Given the description of an element on the screen output the (x, y) to click on. 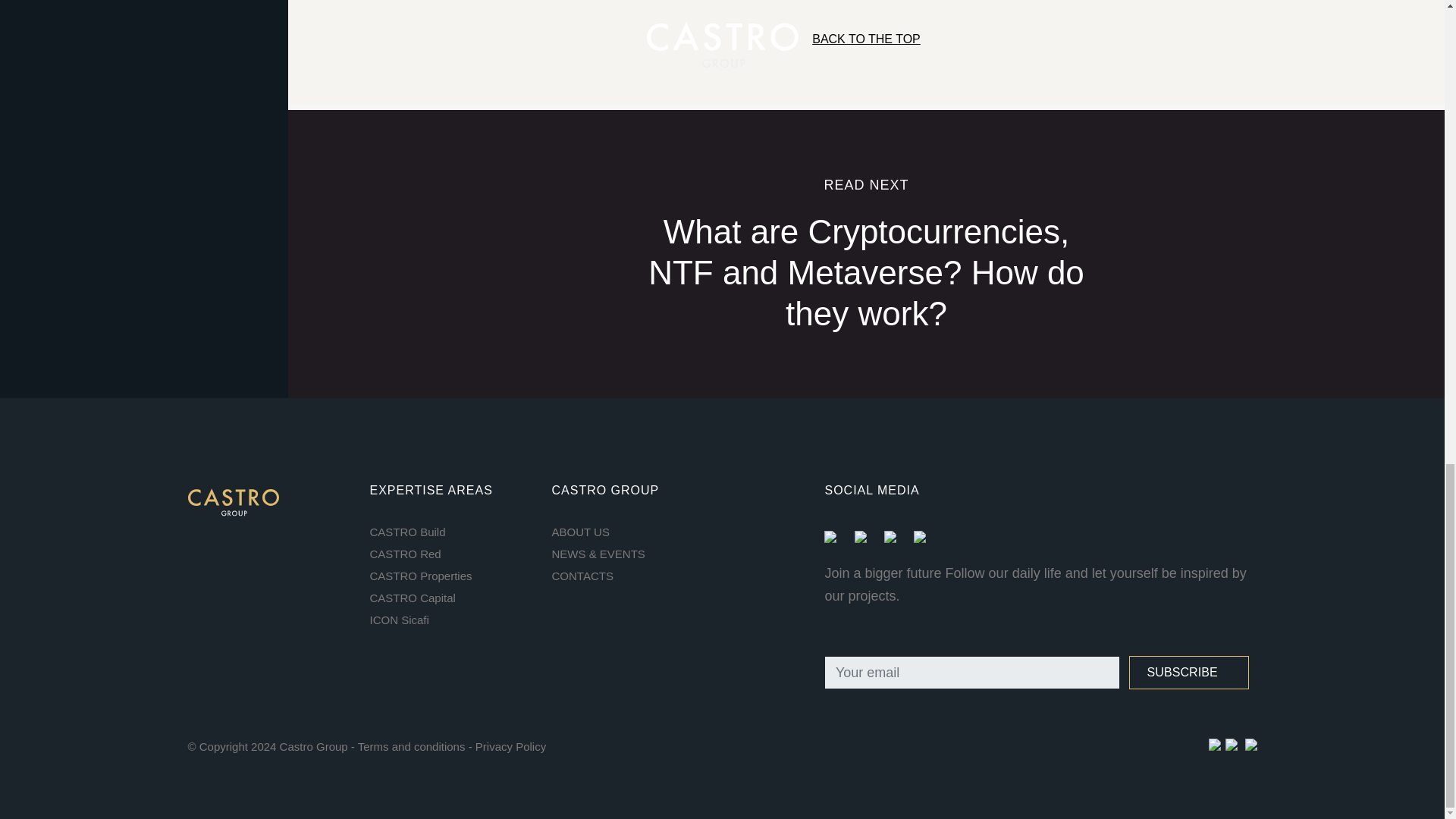
CASTRO Red (449, 553)
CASTRO Red (449, 553)
ICON Sicafi (449, 619)
CONTACTS (631, 576)
CASTRO Properties (449, 576)
ICON Sicafi (449, 619)
BACK TO THE TOP (866, 39)
CASTRO Properties (449, 576)
CASTRO Build (449, 531)
CASTRO Capital (449, 598)
